Given the description of an element on the screen output the (x, y) to click on. 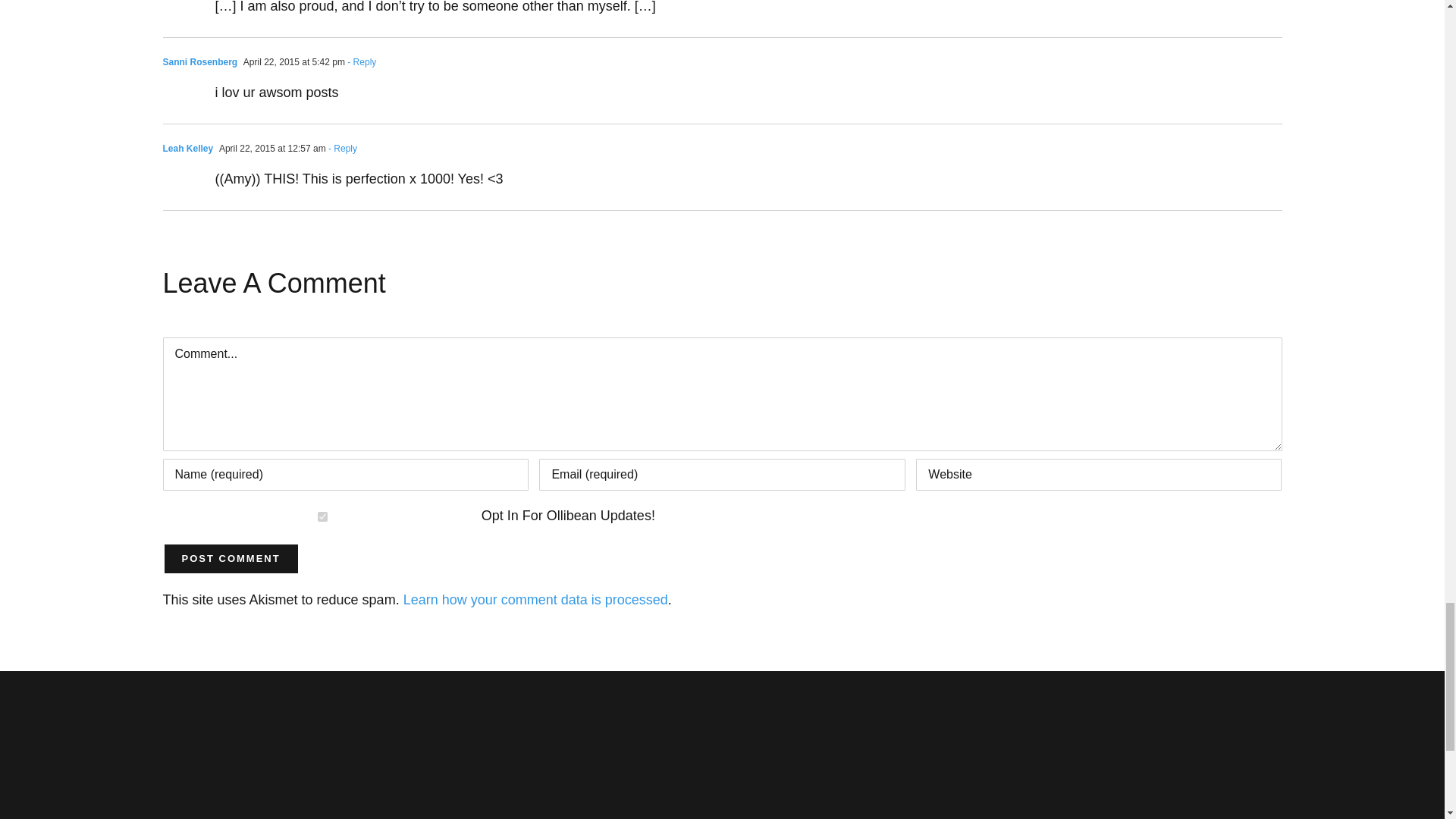
1 (322, 516)
Post Comment (229, 558)
